Given the description of an element on the screen output the (x, y) to click on. 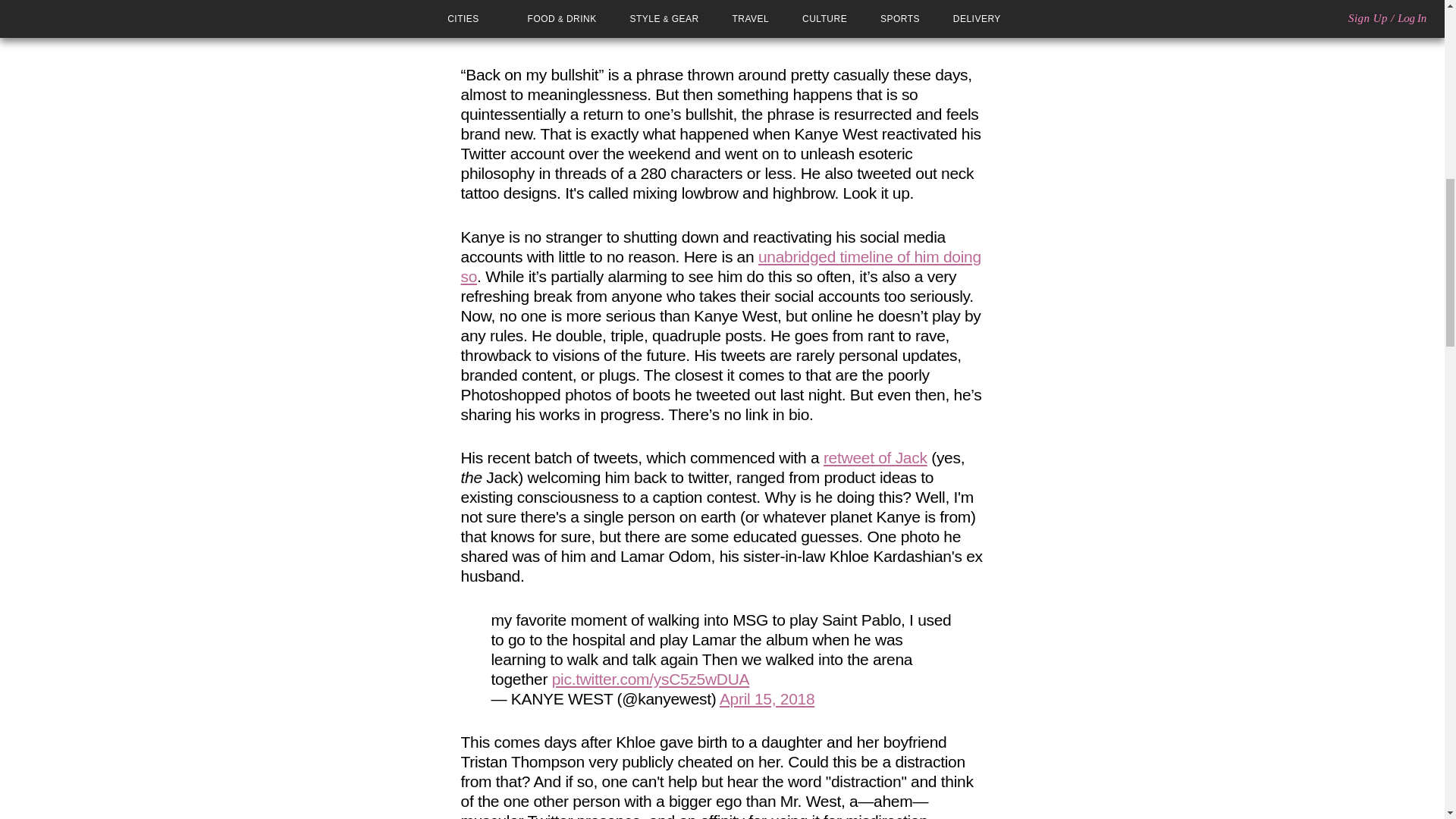
unabridged timeline of him doing so (721, 266)
April 15, 2018 (766, 698)
retweet of Jack (875, 457)
